Given the description of an element on the screen output the (x, y) to click on. 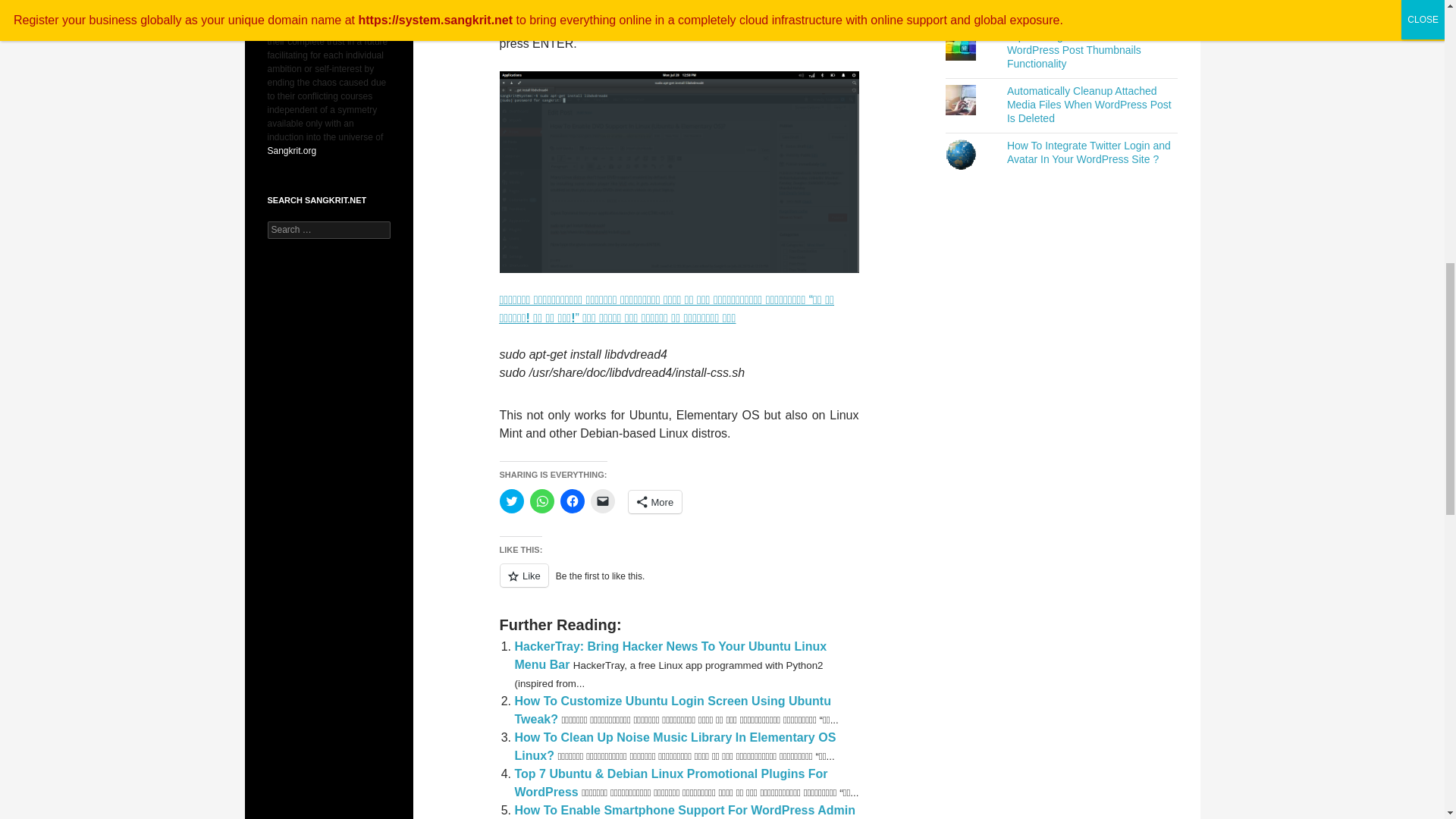
More (654, 501)
How To Customize Ubuntu Login Screen Using Ubuntu Tweak? (671, 709)
Click to email a link to a friend (601, 500)
How To Customize Ubuntu Login Screen Using Ubuntu Tweak? (671, 709)
HackerTray: Bring Hacker News To Your Ubuntu Linux Menu Bar (670, 654)
Click to share on Facebook (571, 500)
Click to share on WhatsApp (541, 500)
Click to share on Twitter (510, 500)
HackerTray: Bring Hacker News To Your Ubuntu Linux Menu Bar (670, 654)
Like or Reblog (679, 584)
